Given the description of an element on the screen output the (x, y) to click on. 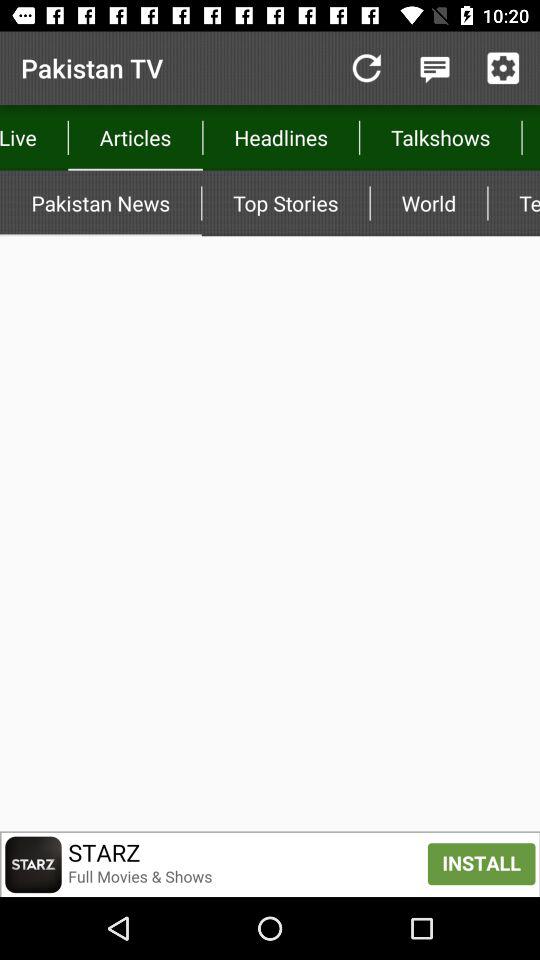
select item next to articles app (366, 67)
